Given the description of an element on the screen output the (x, y) to click on. 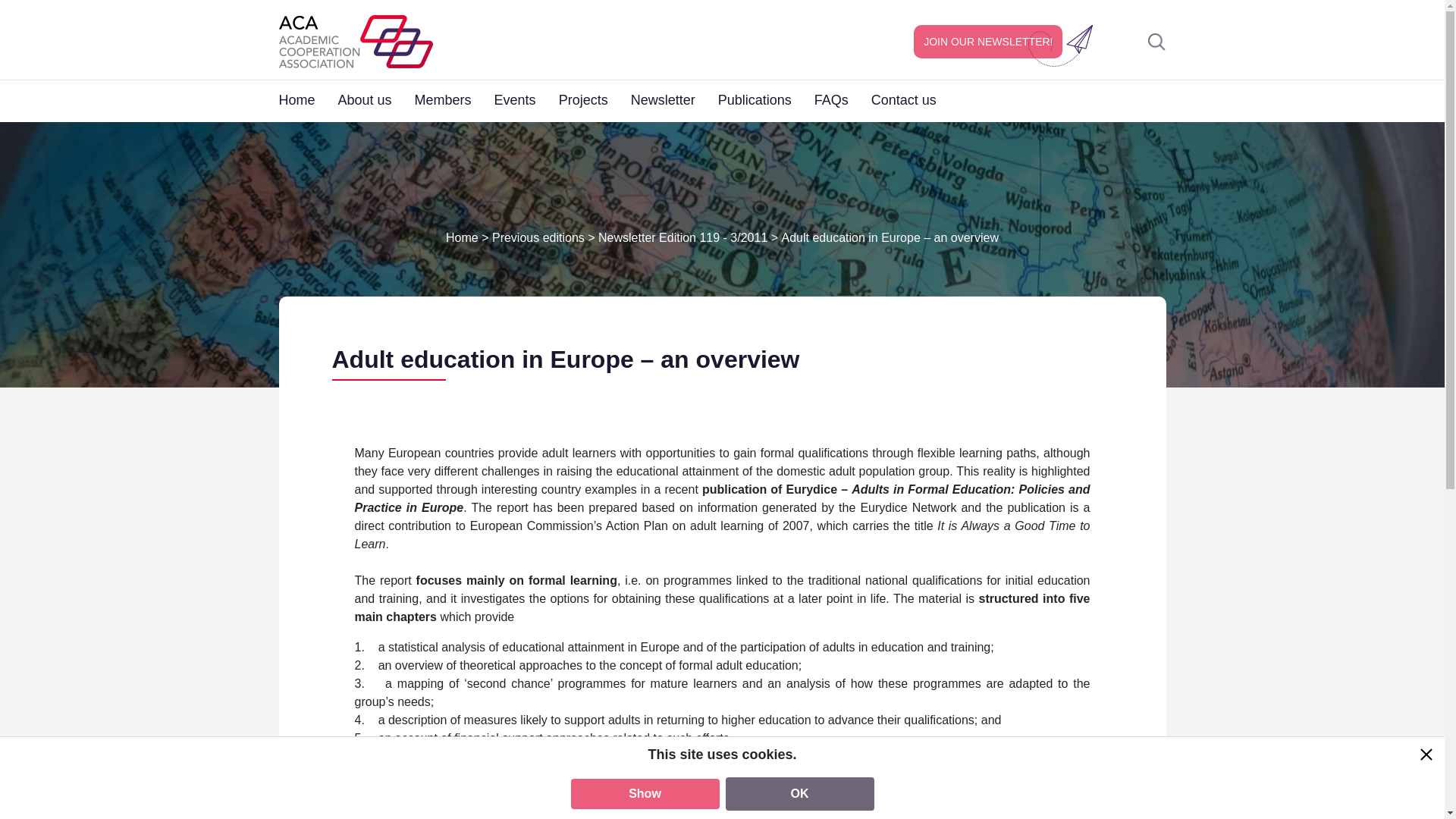
Events (527, 99)
FAQs (841, 99)
Publications (765, 99)
Members (454, 99)
Newsletter (673, 99)
Home (308, 99)
Projects (594, 99)
Contact us (914, 99)
JOIN OUR NEWSLETTER! (988, 41)
About us (375, 99)
